Given the description of an element on the screen output the (x, y) to click on. 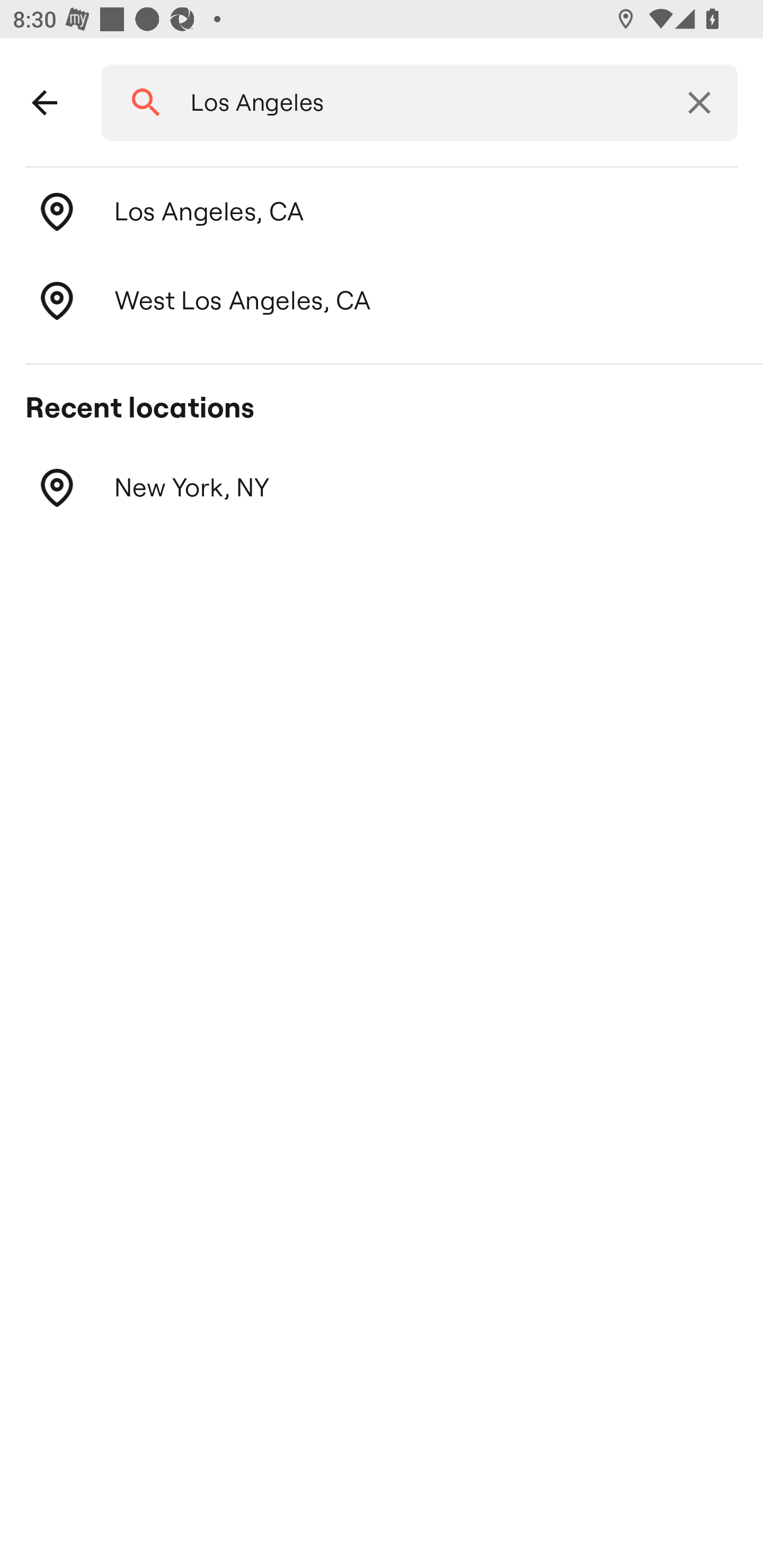
Back (44, 102)
Los Angeles (413, 102)
Clear (699, 102)
Los Angeles, CA (381, 212)
West Los Angeles, CA (381, 300)
New York, NY (381, 488)
